Given the description of an element on the screen output the (x, y) to click on. 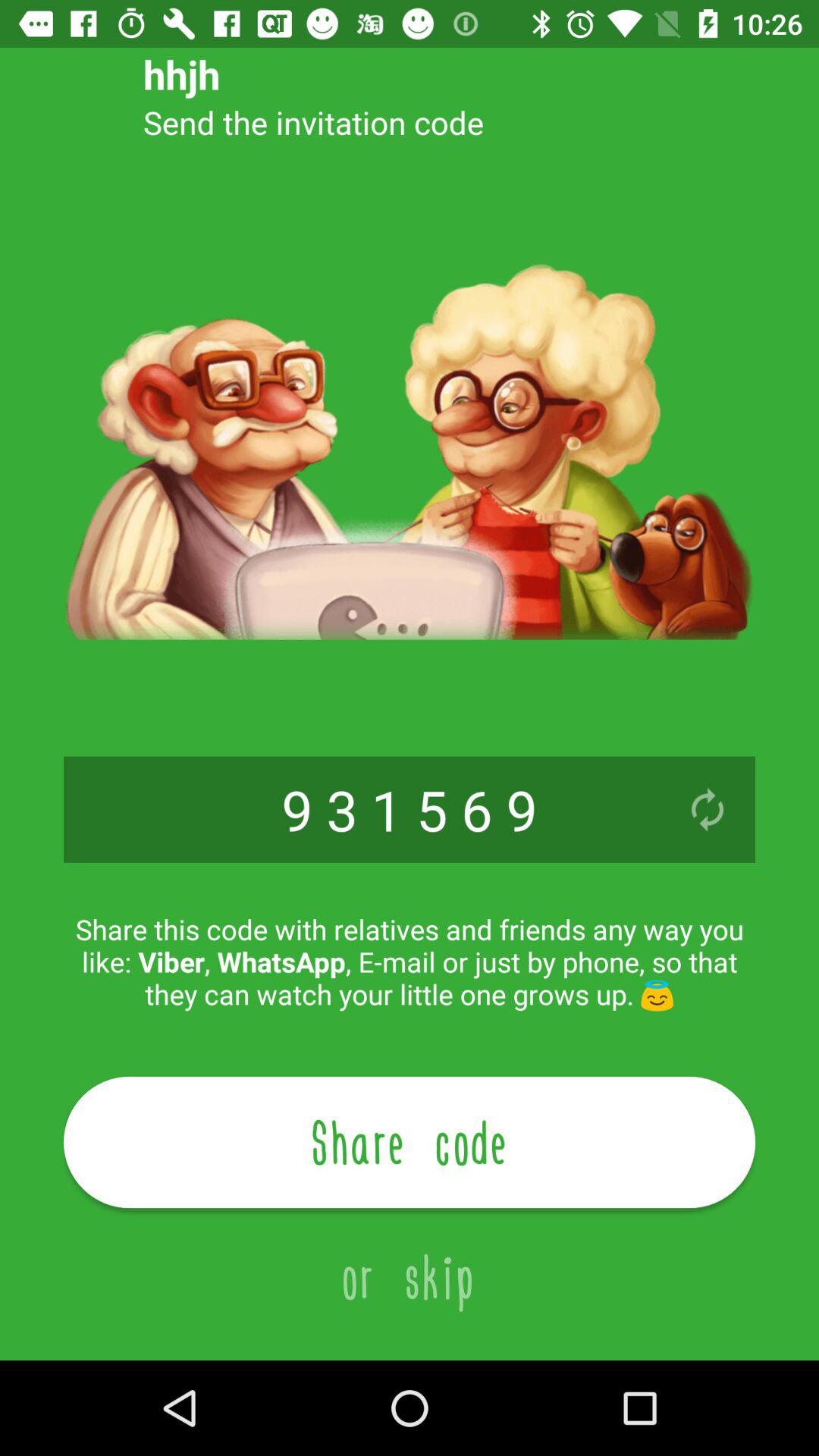
refresh invitation code (707, 809)
